Given the description of an element on the screen output the (x, y) to click on. 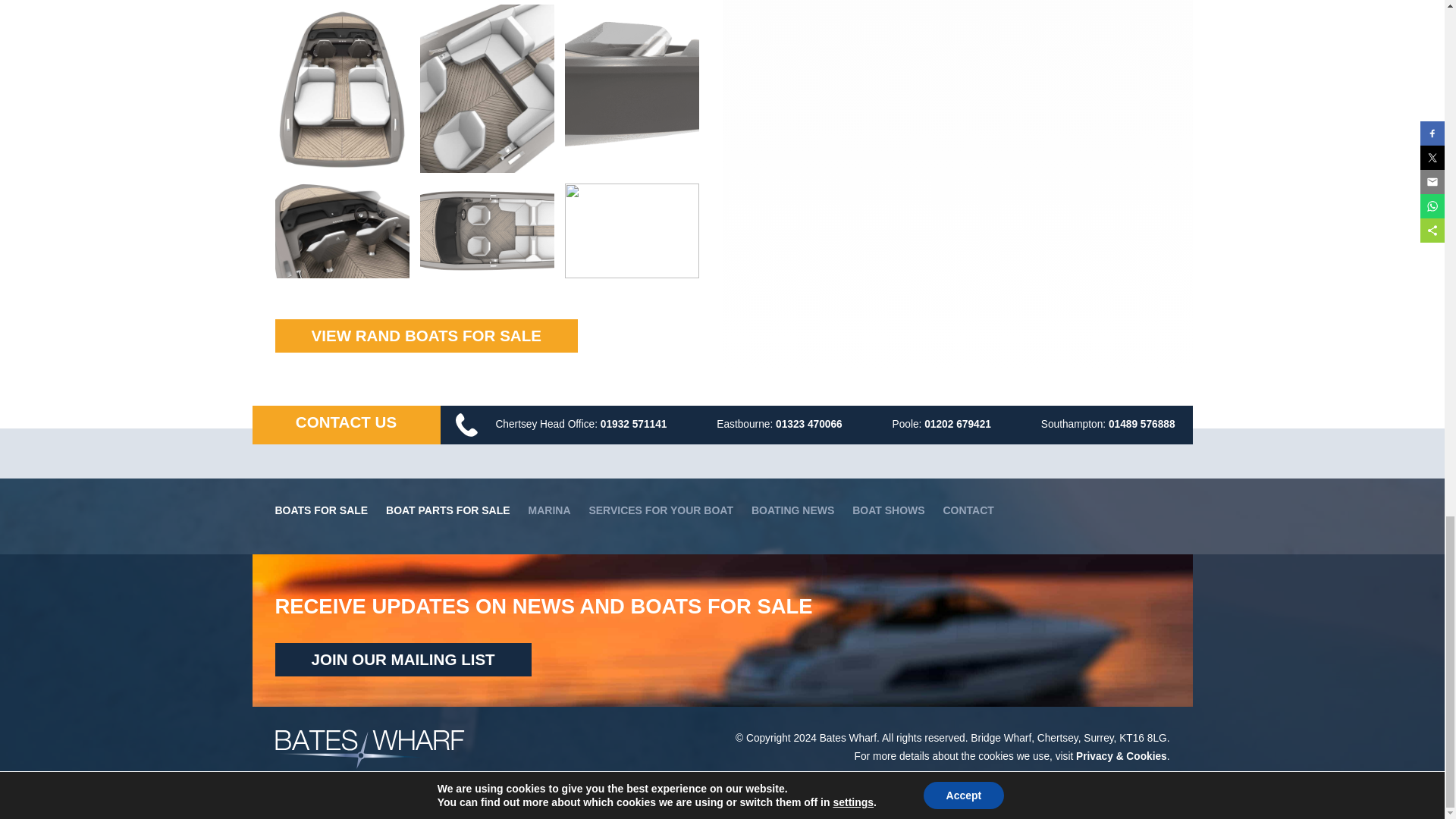
Call Chertsey UK Head Office for new and used boats for sale (632, 423)
Sign up to receive our news and boats for sale newsletter (403, 659)
Bates Wharf (369, 765)
Privacy and Cookies (1121, 756)
Call Poole UK Office for new and used boats for sale (957, 423)
Call Eastbourne UK Office for new and used boats for sale (809, 423)
Call Southampton UK Office for new and used boats for sale (1141, 423)
